Given the description of an element on the screen output the (x, y) to click on. 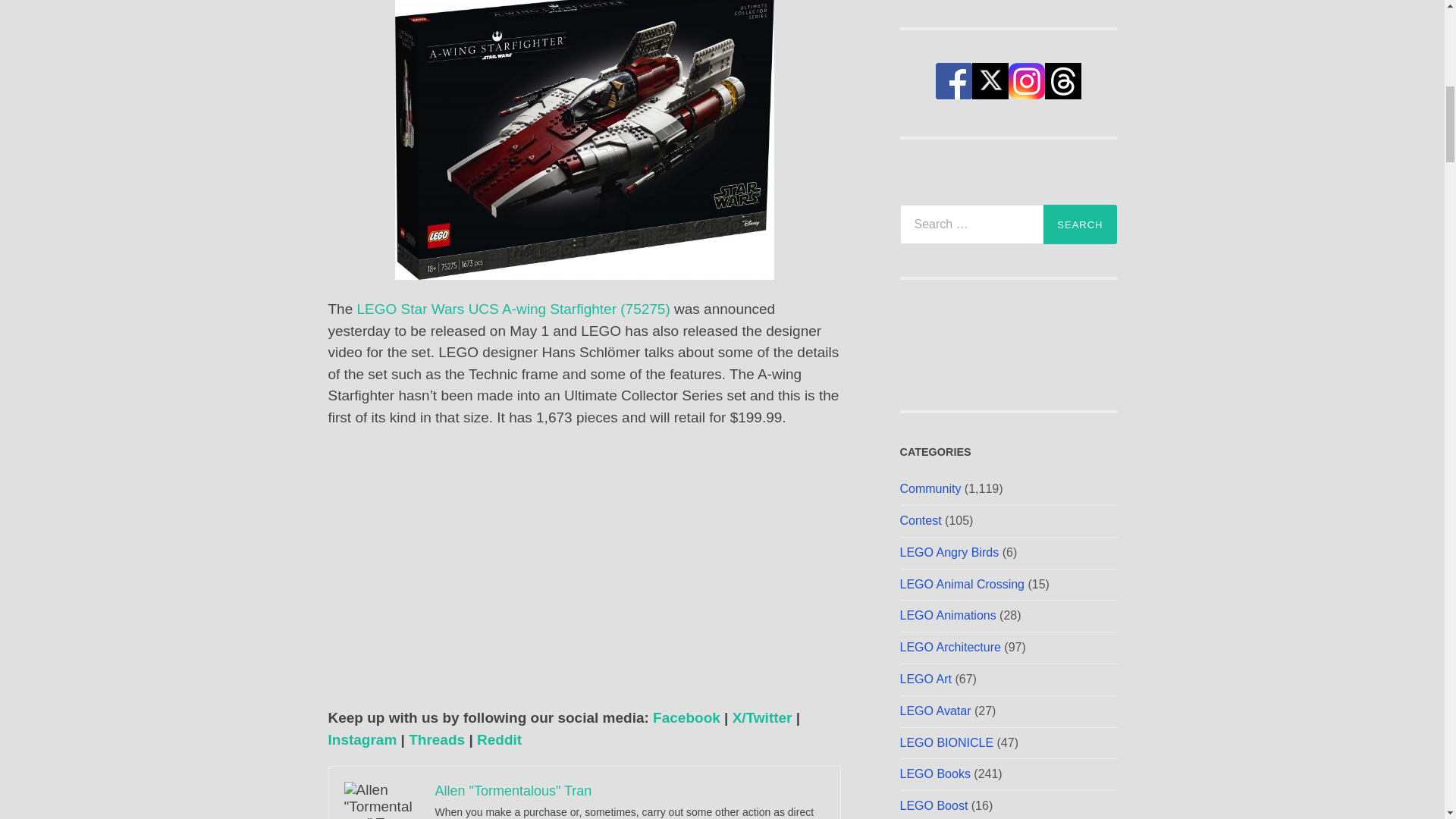
Instagram (361, 739)
Threads (436, 739)
Search (1079, 224)
Allen "Tormentalous" Tran (513, 790)
Facebook (686, 717)
Reddit (499, 739)
Search (1079, 224)
